Given the description of an element on the screen output the (x, y) to click on. 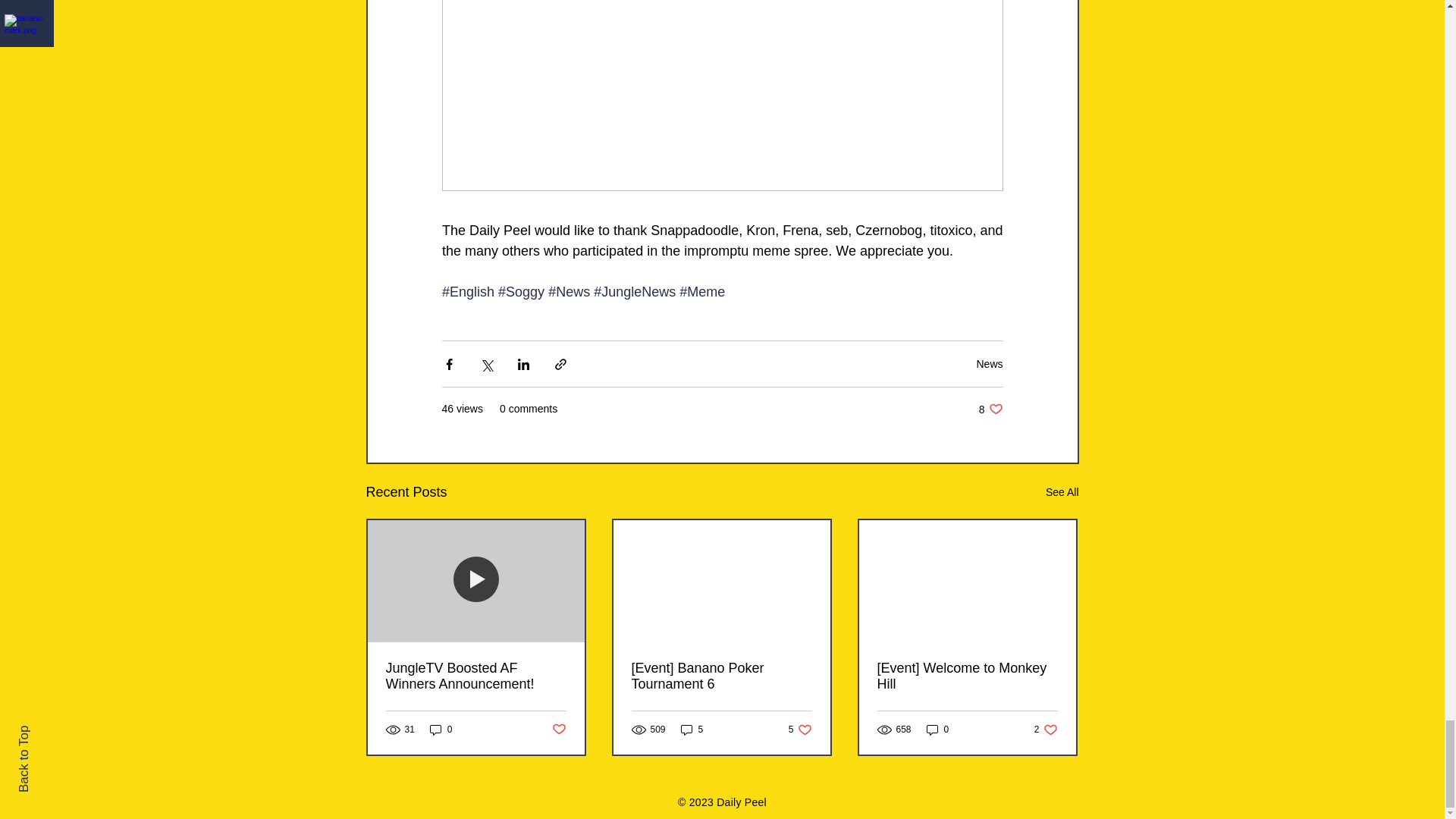
News (989, 363)
Post not marked as liked (558, 729)
0 (441, 729)
5 (691, 729)
JungleTV Boosted AF Winners Announcement! (800, 729)
See All (475, 676)
